Given the description of an element on the screen output the (x, y) to click on. 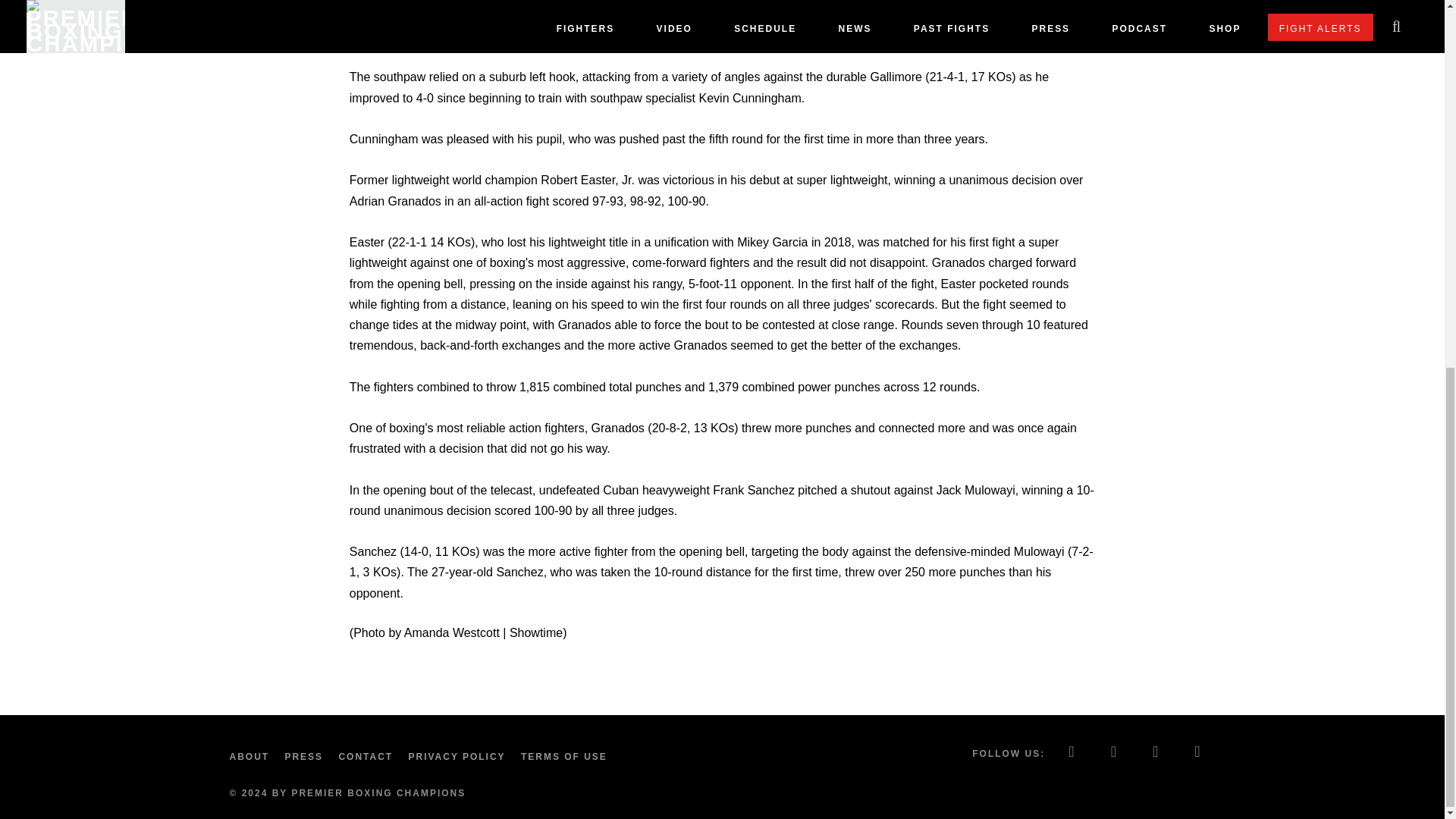
TWITTER (1114, 753)
CONTACT (368, 756)
INSTAGRAM (1155, 753)
YOU TUBE (1197, 753)
PRESS (306, 756)
FACEBOOK (1071, 753)
PRIVACY POLICY (459, 756)
ABOUT (252, 756)
TERMS OF USE (567, 756)
